Given the description of an element on the screen output the (x, y) to click on. 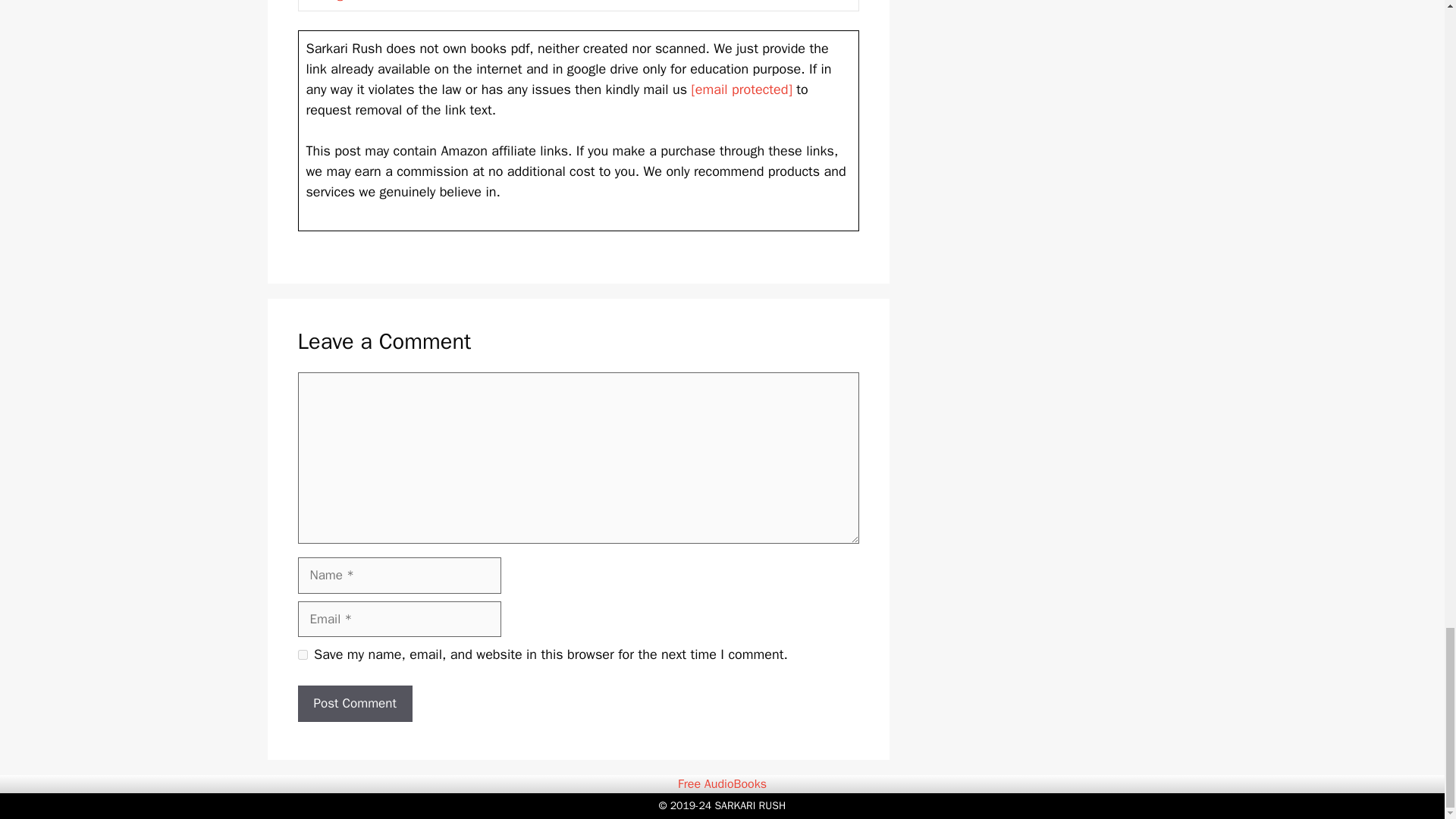
Post Comment (354, 703)
Post Comment (354, 703)
Hindi grammar PDF download (387, 1)
yes (302, 655)
